Given the description of an element on the screen output the (x, y) to click on. 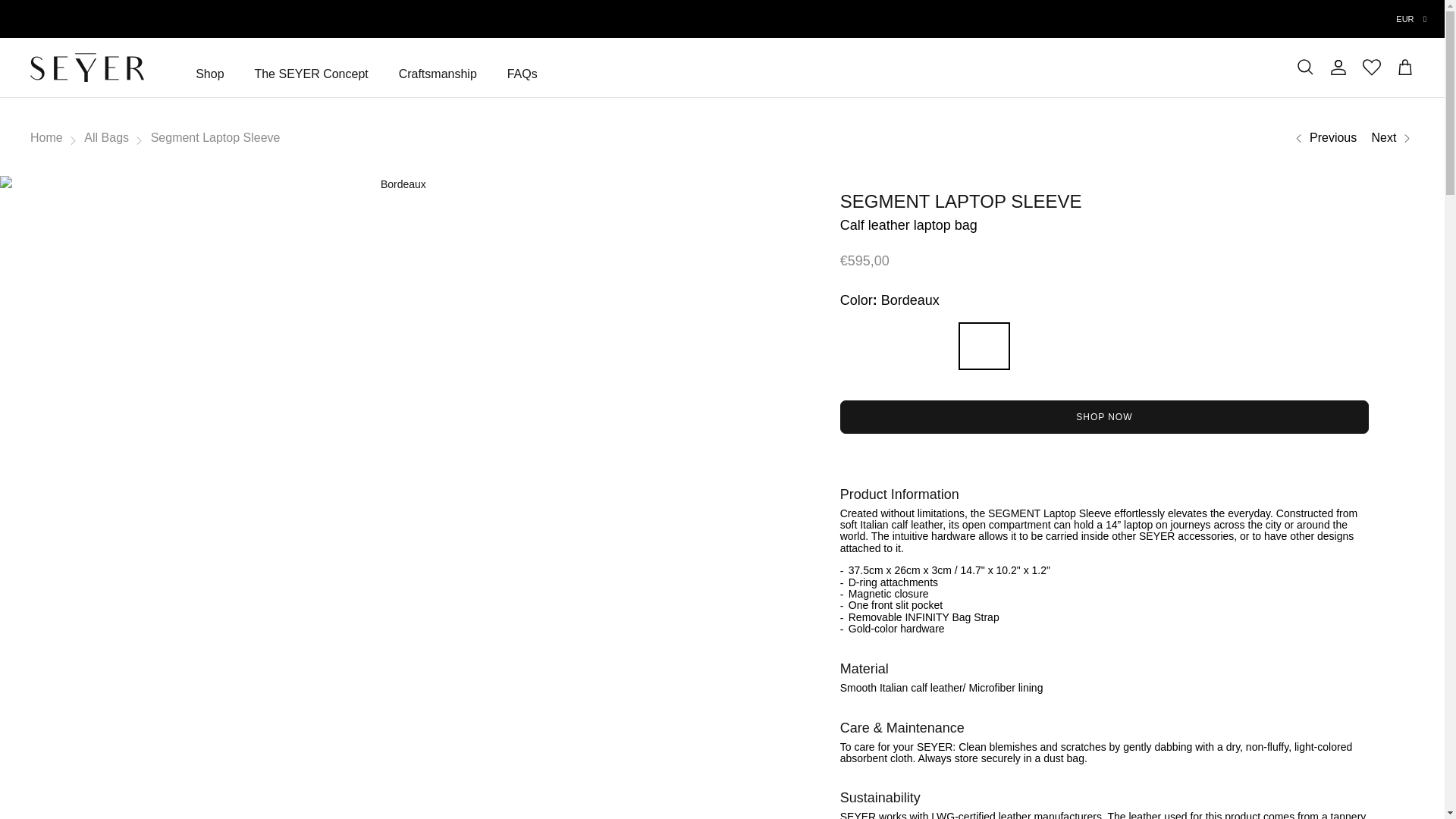
The SEYER Concept (310, 74)
Craftsmanship (437, 74)
FAQs (522, 74)
SEYER Official (87, 67)
Account (1338, 67)
Shop (209, 74)
Search (1304, 66)
Segment Chain Pouch (1392, 138)
Cart (1404, 67)
